Given the description of an element on the screen output the (x, y) to click on. 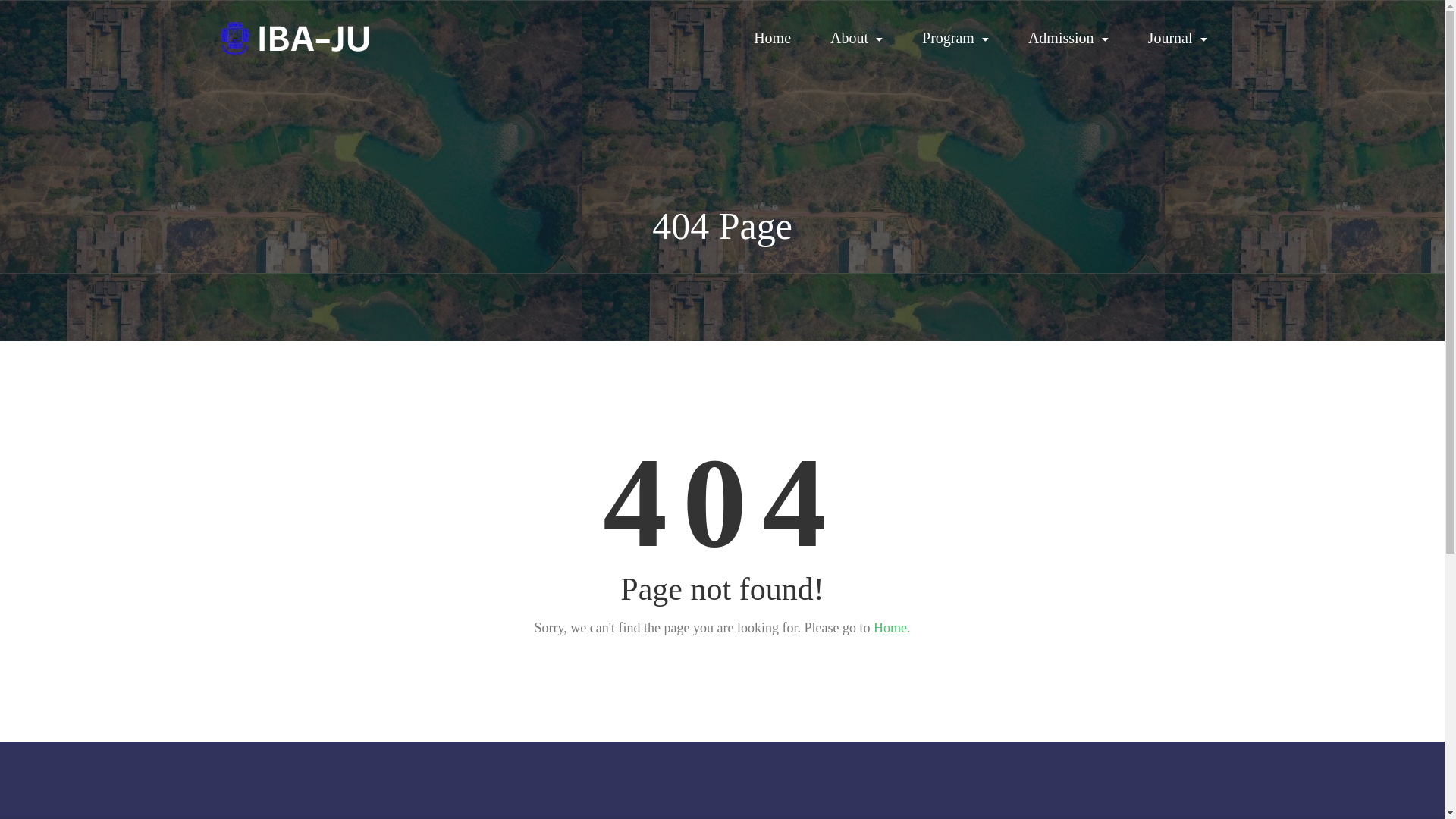
Home. Element type: text (891, 627)
About Element type: text (856, 37)
Journal Element type: text (1177, 37)
Admission Element type: text (1068, 37)
Home Element type: text (772, 37)
Program Element type: text (955, 37)
IBA-JU - Institute of Business Administration Element type: hover (316, 37)
